Given the description of an element on the screen output the (x, y) to click on. 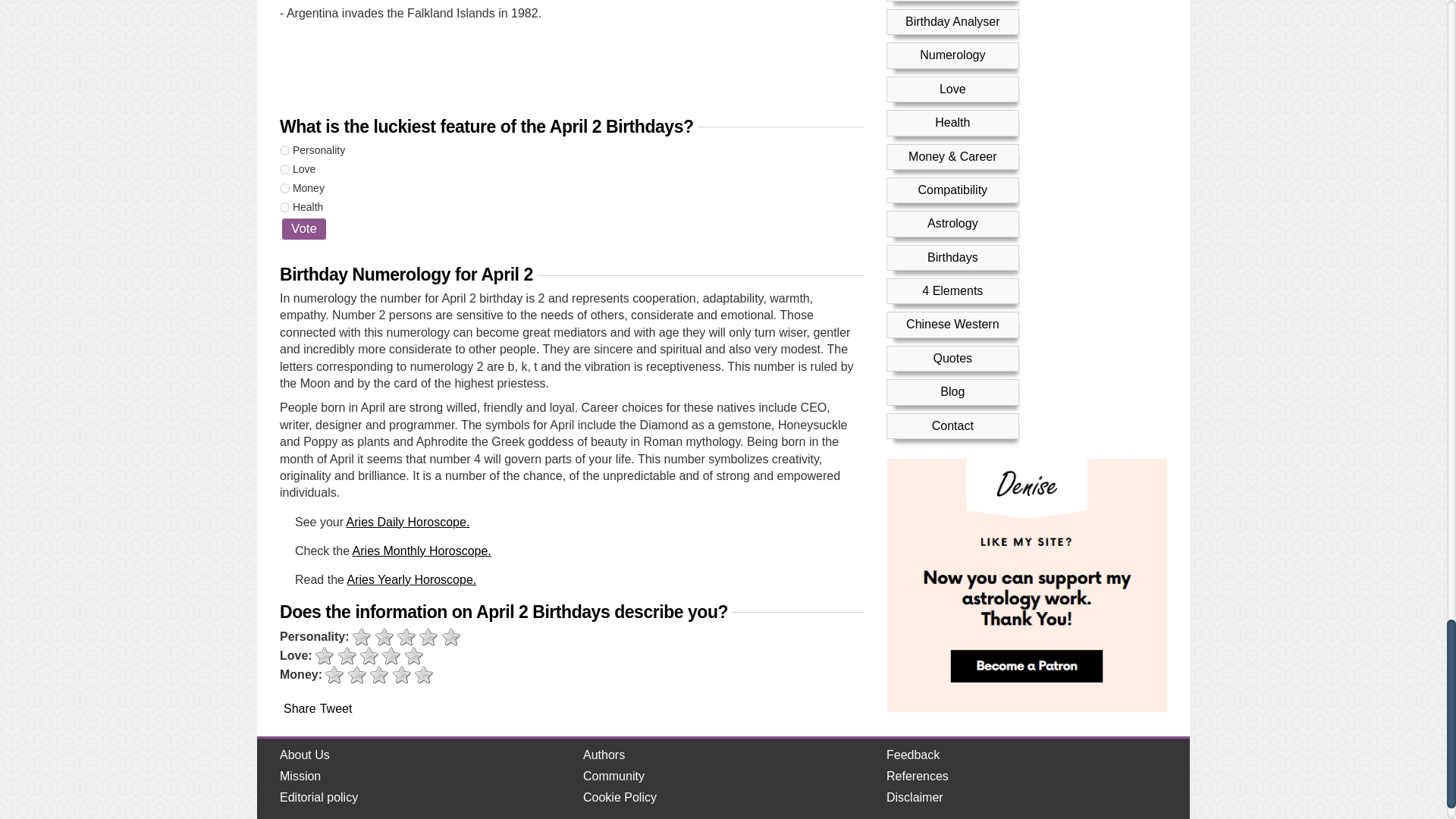
Good (402, 674)
Average (406, 637)
q2 (284, 169)
Aries September 2024 Monthly Horoscope (422, 550)
Good (428, 637)
Average (368, 656)
Somewhat (356, 674)
Average (378, 674)
q4 (284, 207)
Not at All (333, 674)
